Given the description of an element on the screen output the (x, y) to click on. 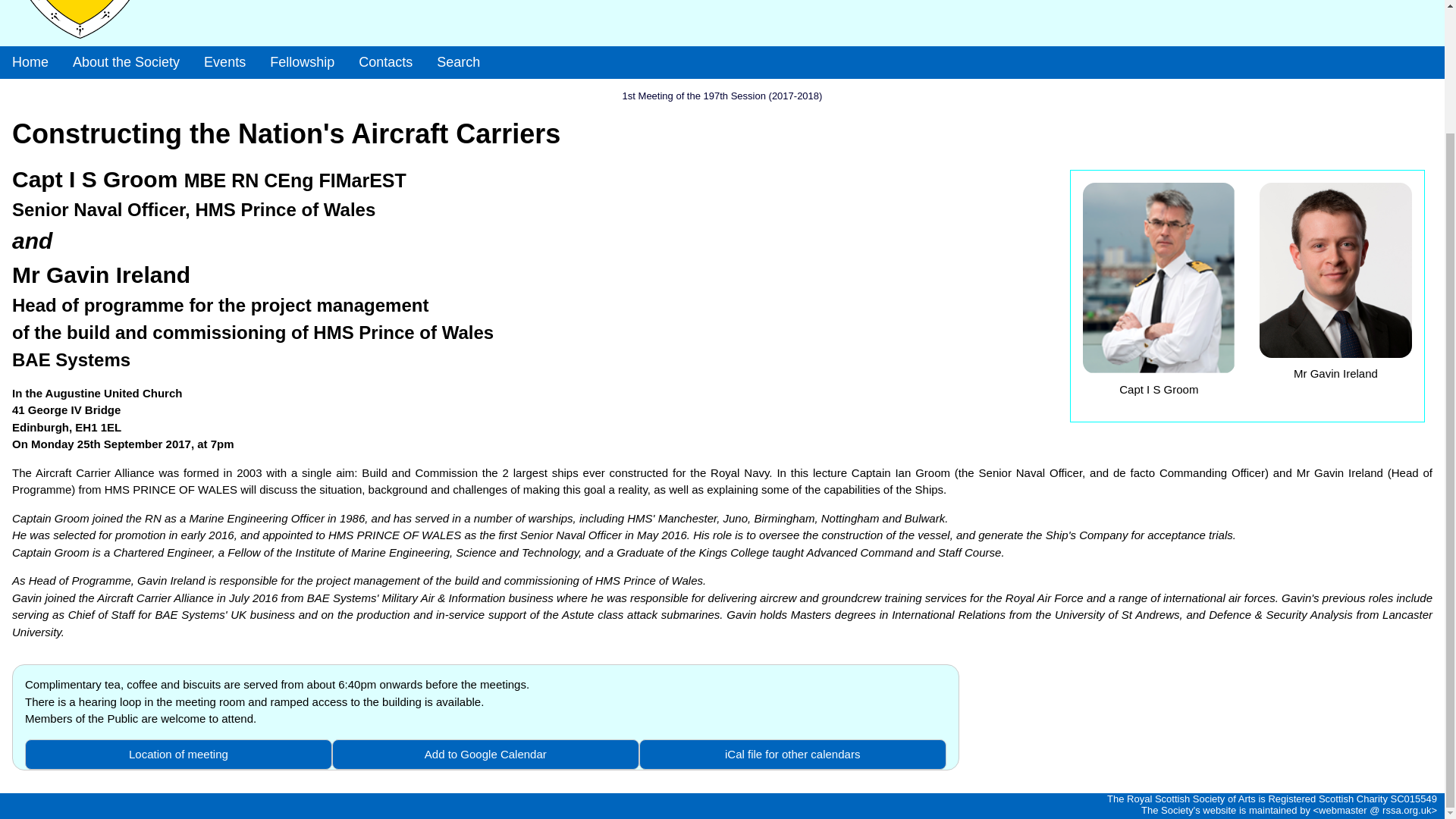
Events (224, 61)
Home Page. (30, 61)
Contacts (385, 61)
Fellowship (301, 61)
Home (30, 61)
Search (458, 61)
Events. (224, 61)
Location of meeting (177, 754)
iCal file for other calendars (792, 754)
Fellowship. (301, 61)
About the Society (125, 61)
Search this website (458, 61)
Contacts (385, 61)
Add to Google Calendar (485, 754)
